Given the description of an element on the screen output the (x, y) to click on. 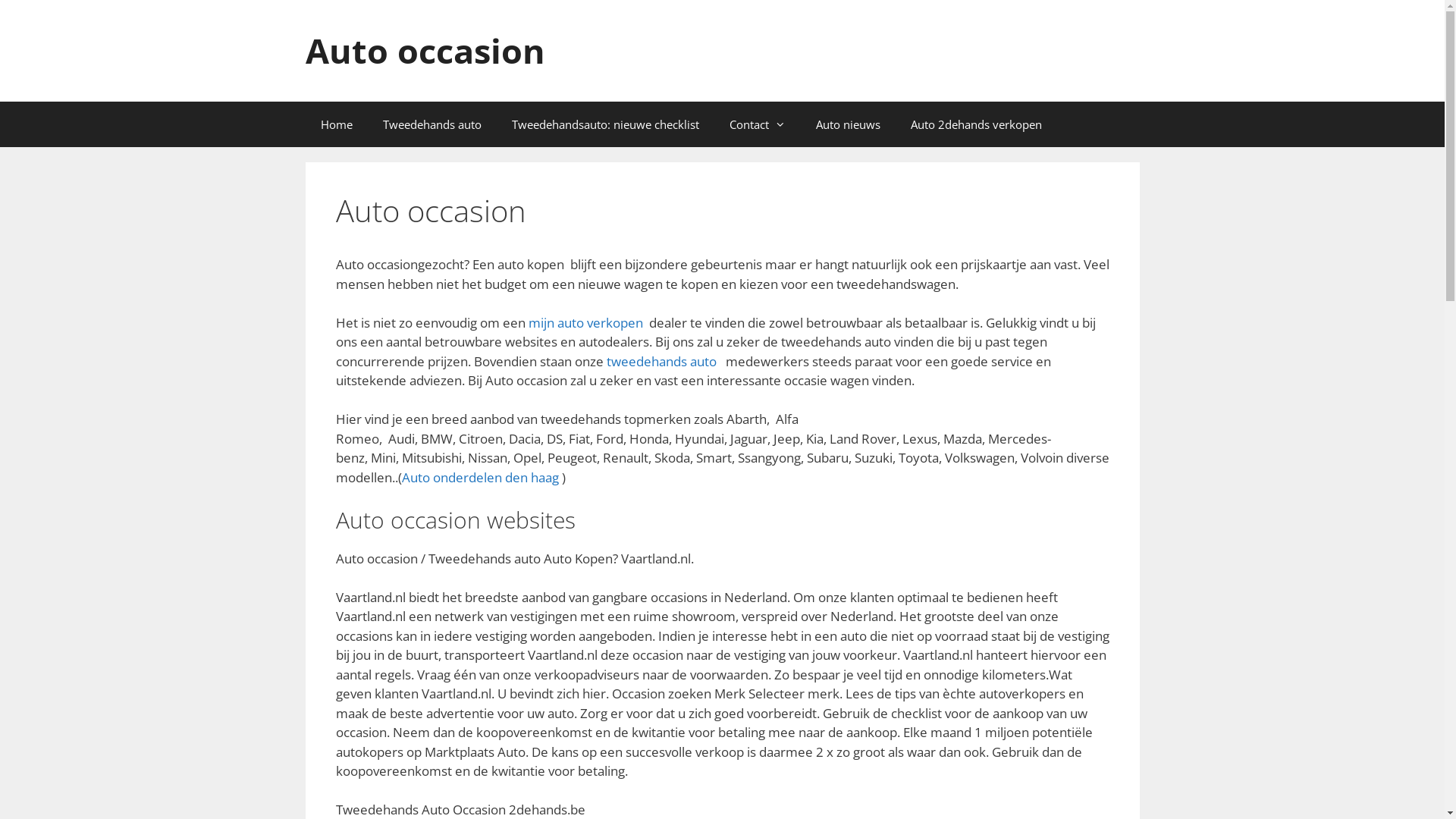
Auto occasion Element type: text (424, 50)
Auto 2dehands verkopen Element type: text (975, 124)
tweedehands auto Element type: text (661, 360)
mijn auto verkopen Element type: text (584, 322)
Home Element type: text (335, 124)
Auto onderdelen den haag Element type: text (479, 477)
Auto nieuws Element type: text (847, 124)
Tweedehandsauto: nieuwe checklist Element type: text (604, 124)
Contact Element type: text (757, 124)
Tweedehands auto Element type: text (431, 124)
